Given the description of an element on the screen output the (x, y) to click on. 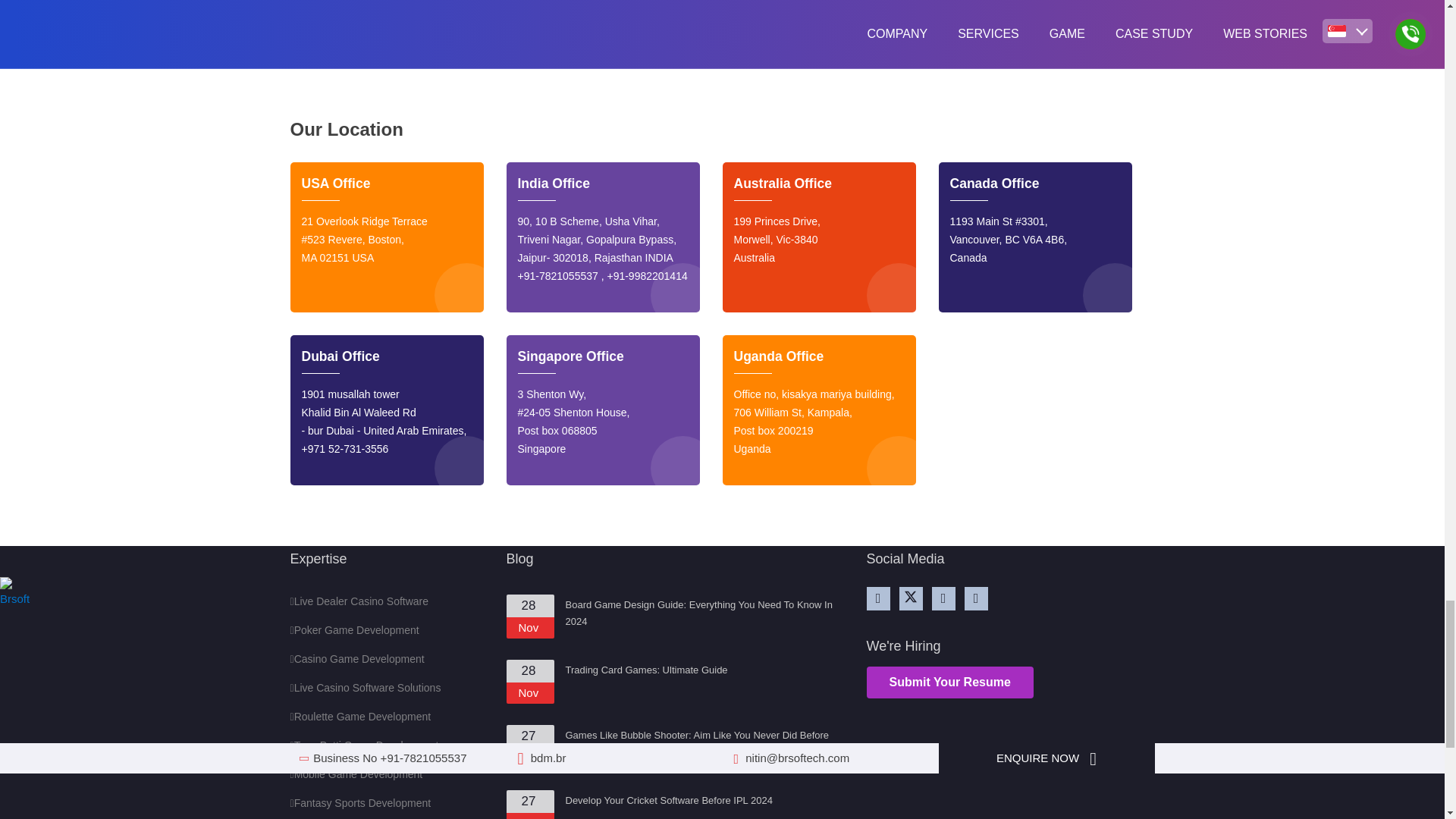
Right Icon4 (660, 3)
Live Dealer Casino Software (358, 601)
Right Icon5 (1093, 3)
